Given the description of an element on the screen output the (x, y) to click on. 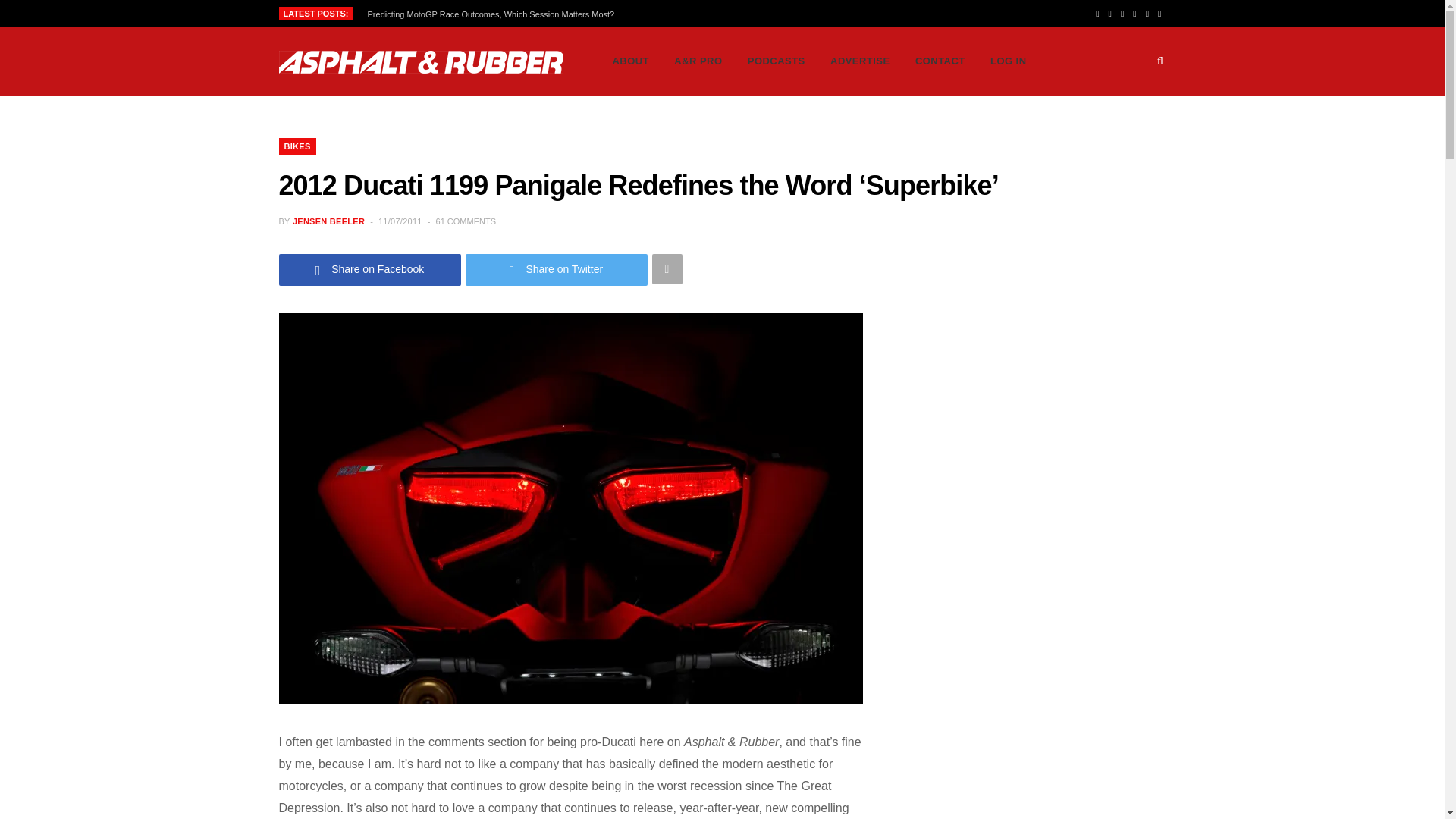
PODCASTS (776, 61)
Predicting MotoGP Race Outcomes, Which Session Matters Most? (495, 14)
Predicting MotoGP Race Outcomes, Which Session Matters Most? (495, 14)
ADVERTISE (859, 61)
CONTACT (940, 61)
61 COMMENTS (465, 221)
Share on Twitter (556, 269)
BIKES (297, 146)
Share on Twitter (556, 269)
Share on Facebook (370, 269)
